Given the description of an element on the screen output the (x, y) to click on. 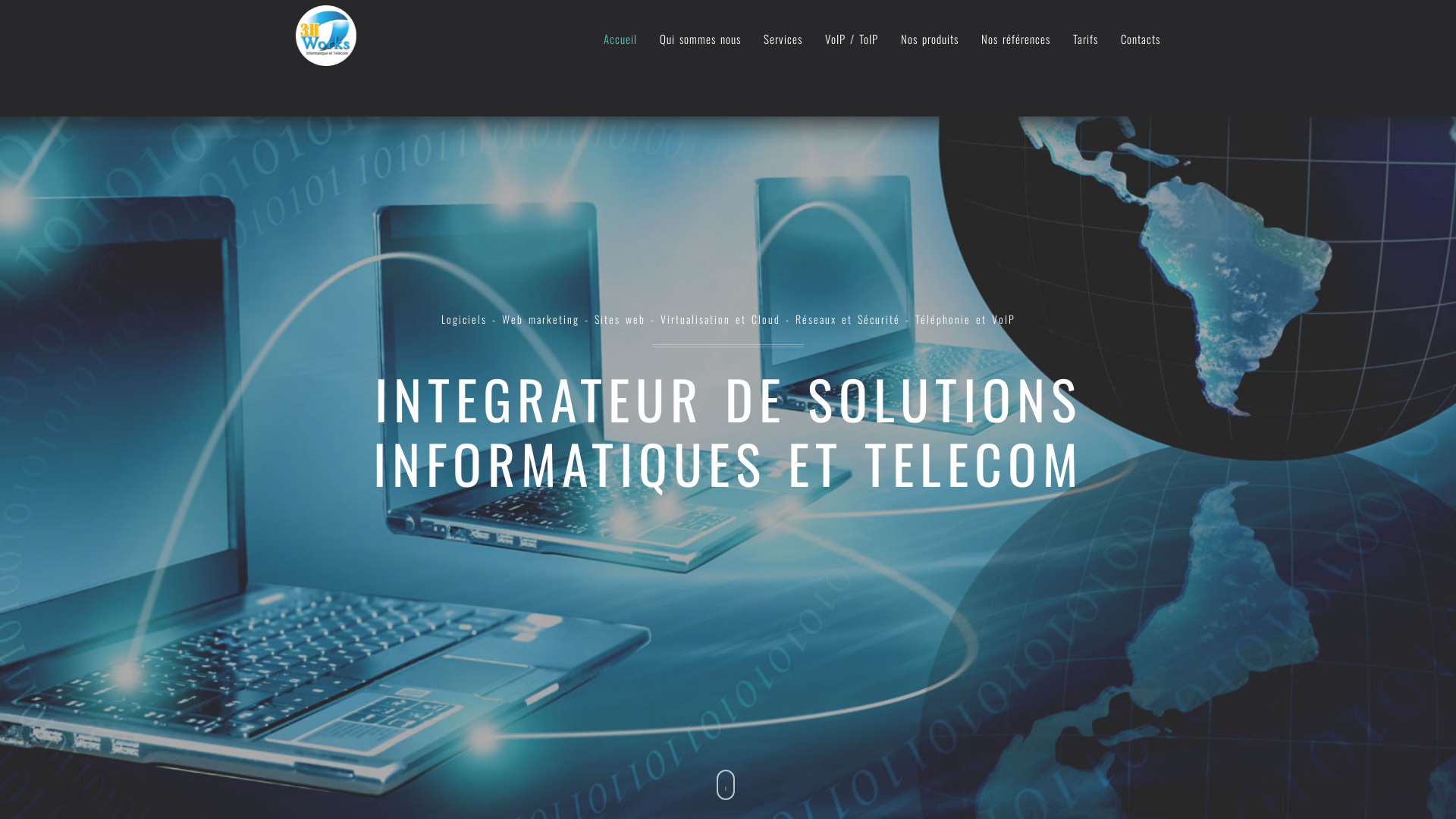
Tarifs Element type: text (1085, 31)
Accueil Element type: text (620, 31)
Contacts Element type: text (1140, 31)
Services Element type: text (782, 31)
Qui sommes nous Element type: text (700, 31)
VoIP / ToIP Element type: text (851, 31)
Nos produits Element type: text (929, 31)
